Given the description of an element on the screen output the (x, y) to click on. 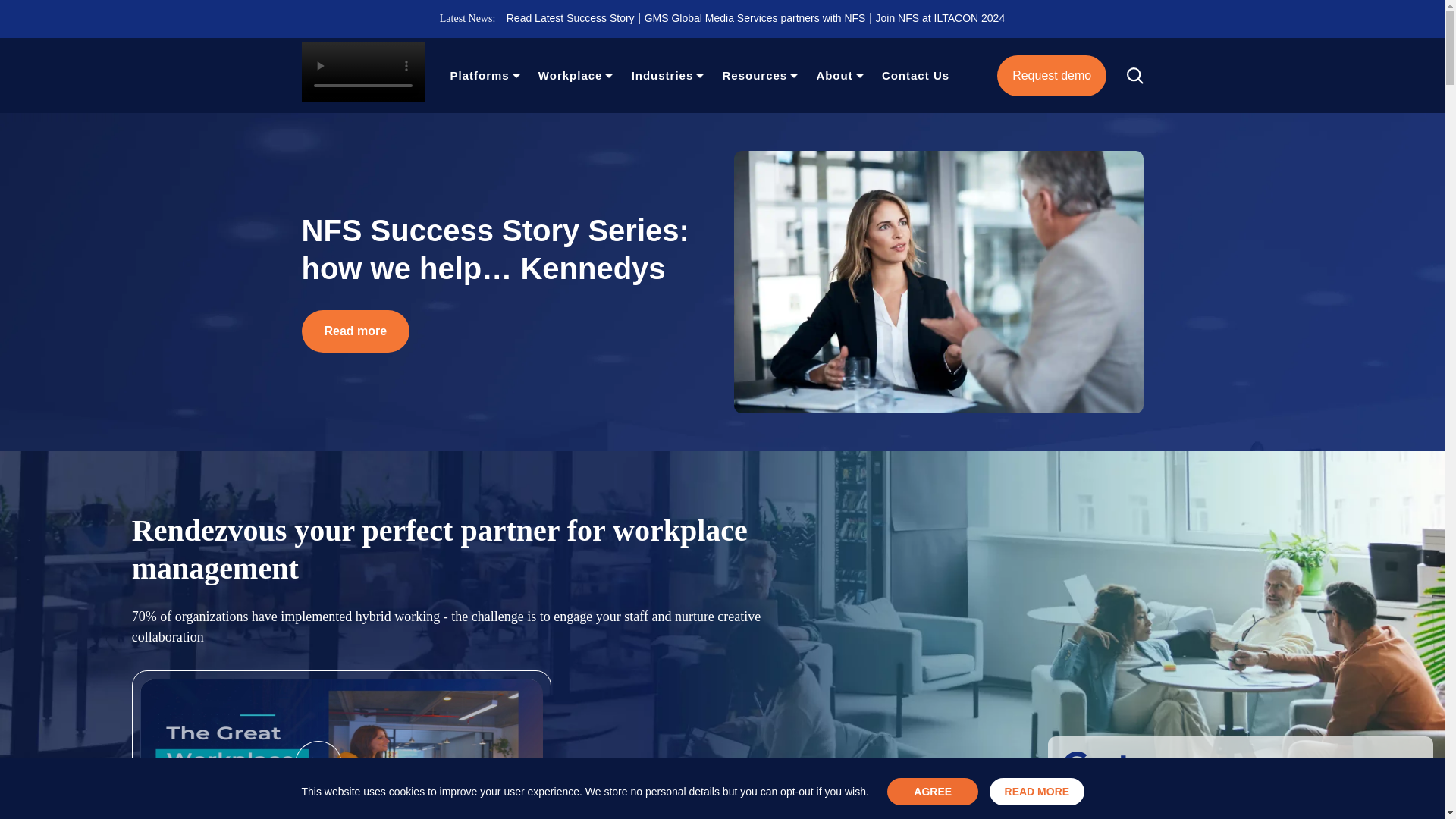
Join NFS at ILTACON 2024 (941, 18)
GMS Global Media Services partners with NFS (755, 18)
Read Latest Success Story (570, 18)
Workplace (570, 75)
Platforms (479, 75)
Industries (662, 75)
